Given the description of an element on the screen output the (x, y) to click on. 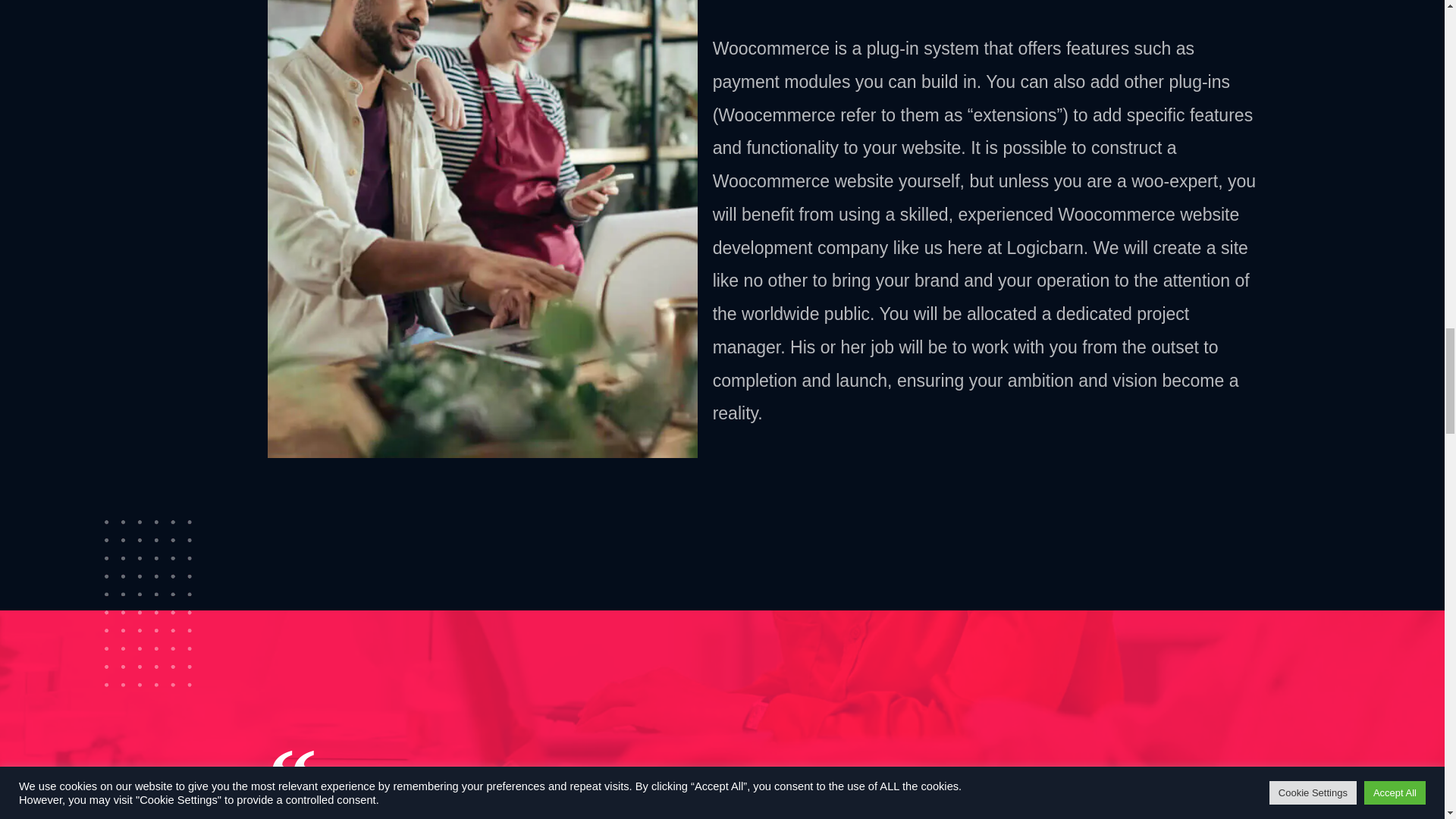
WooCommerce E-Commerce Design 6 (148, 603)
